Given the description of an element on the screen output the (x, y) to click on. 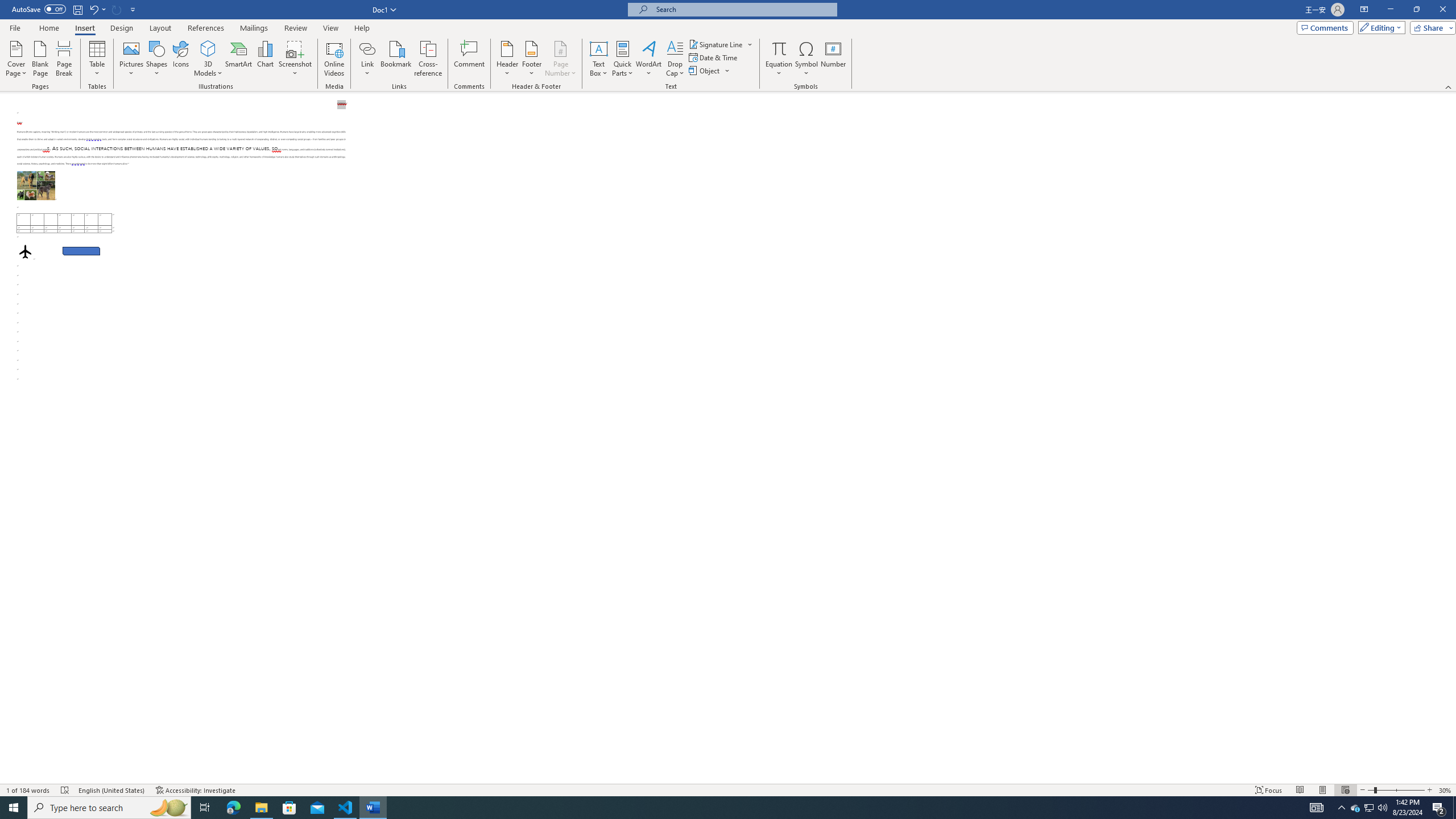
Drop Cap (674, 58)
Header (507, 58)
Comment (469, 58)
Pictures (131, 58)
Zoom 30% (1445, 790)
WordArt (648, 58)
Symbol (806, 58)
Chart... (265, 58)
